Given the description of an element on the screen output the (x, y) to click on. 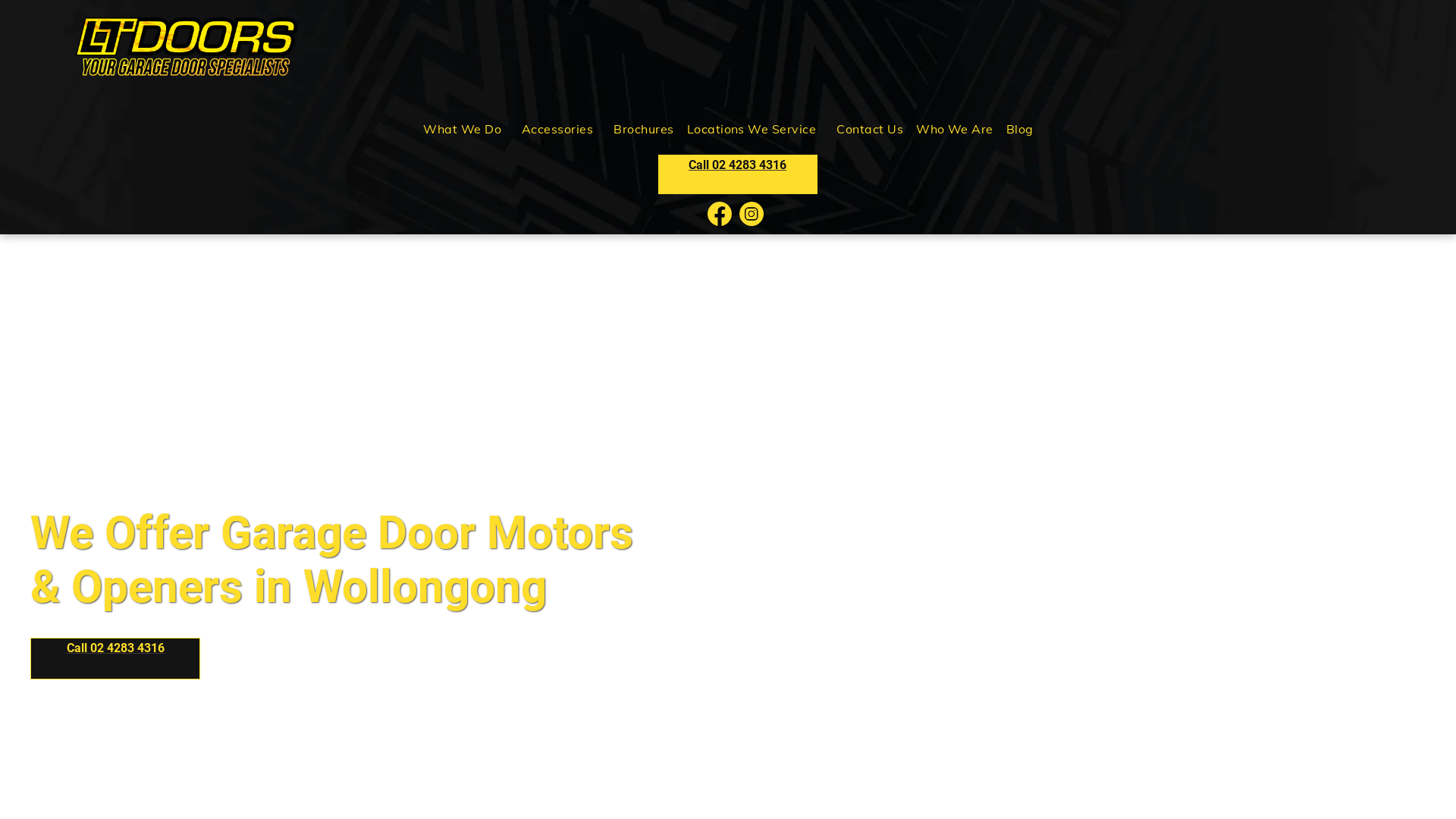
Blog Element type: text (1019, 128)
Locations We Service Element type: text (755, 128)
Welcome to LT Doors: Garage Doors Element type: hover (186, 46)
Call 02 4283 4316 Element type: text (737, 174)
Find Us On Facebook Element type: hover (719, 213)
Call 02 4283 4316 Element type: text (115, 658)
Follow Us On Instagram Element type: hover (751, 213)
Accessories Element type: text (560, 128)
Contact Us Element type: text (869, 128)
Brochures Element type: text (642, 128)
Who We Are Element type: text (954, 128)
What We Do Element type: text (465, 128)
